Given the description of an element on the screen output the (x, y) to click on. 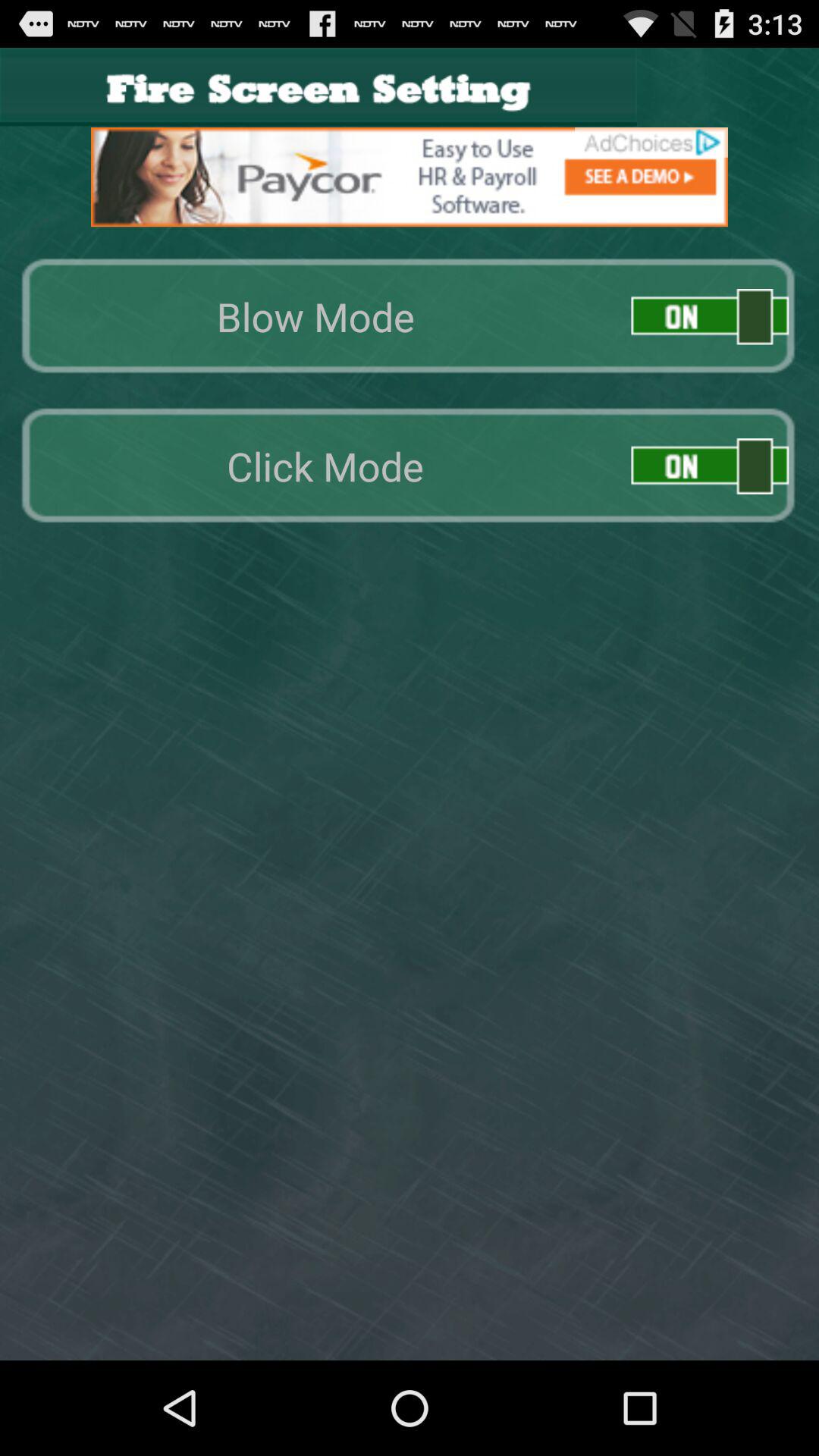
toogle on/off button (709, 316)
